Given the description of an element on the screen output the (x, y) to click on. 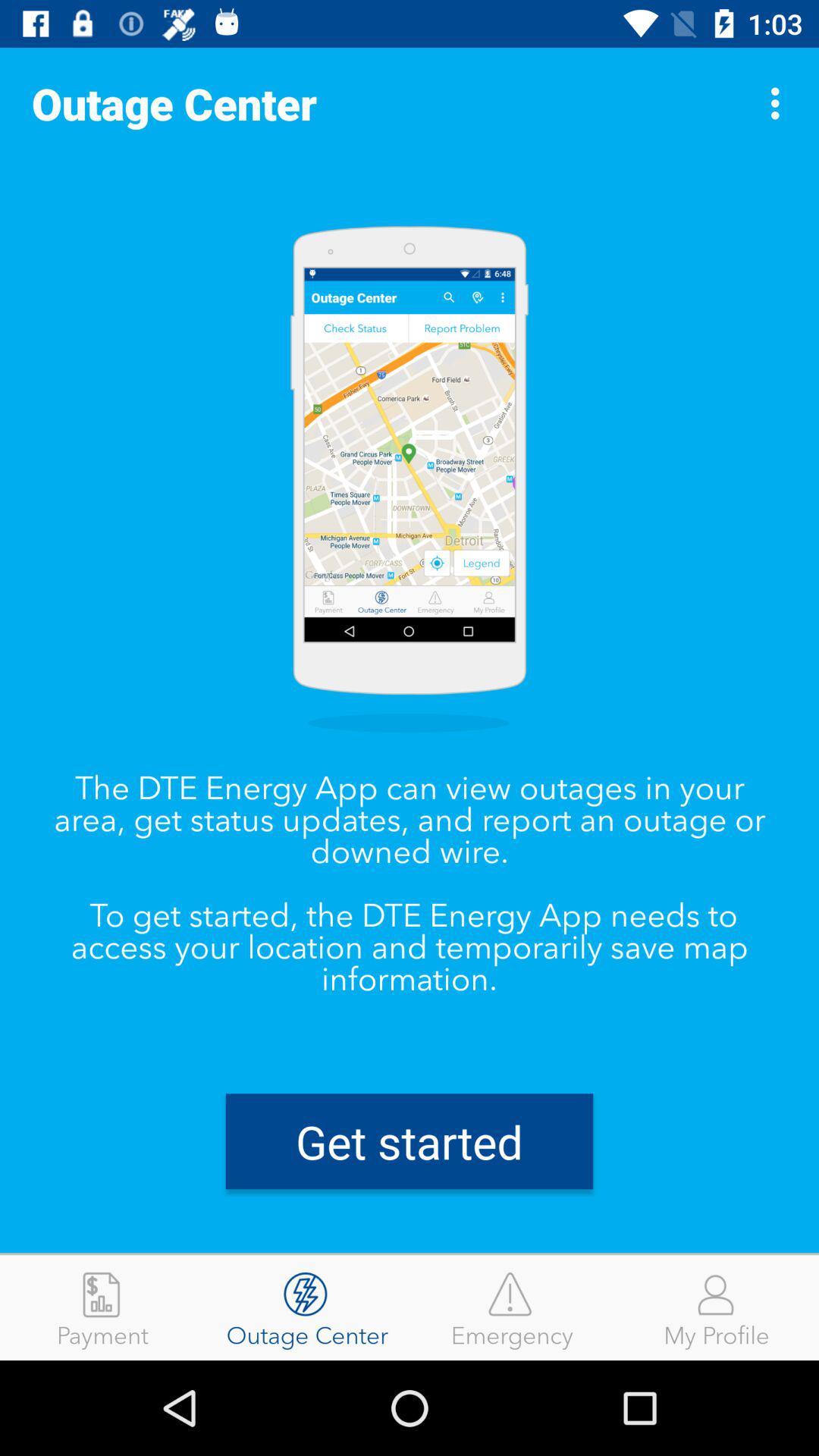
turn off the item at the top right corner (779, 103)
